Given the description of an element on the screen output the (x, y) to click on. 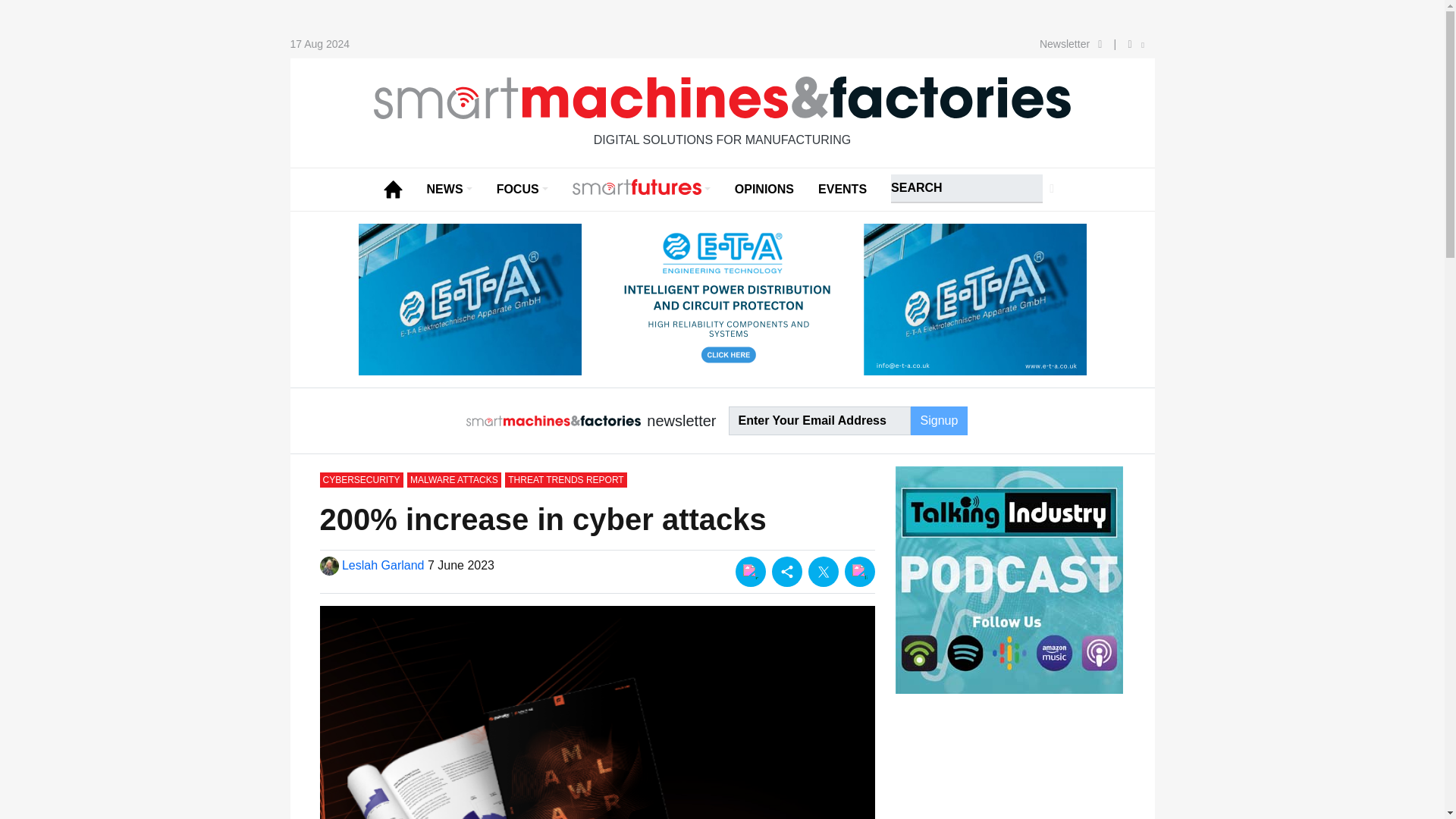
THREAT TRENDS REPORT (565, 479)
Signup (939, 420)
NEWS (449, 189)
OPINIONS (764, 189)
FOCUS (522, 189)
MALWARE ATTACKS (453, 479)
DIGITAL SOLUTIONS FOR MANUFACTURING (721, 119)
Newsletter (1073, 43)
EVENTS (842, 189)
Leslah Garland (380, 564)
